Given the description of an element on the screen output the (x, y) to click on. 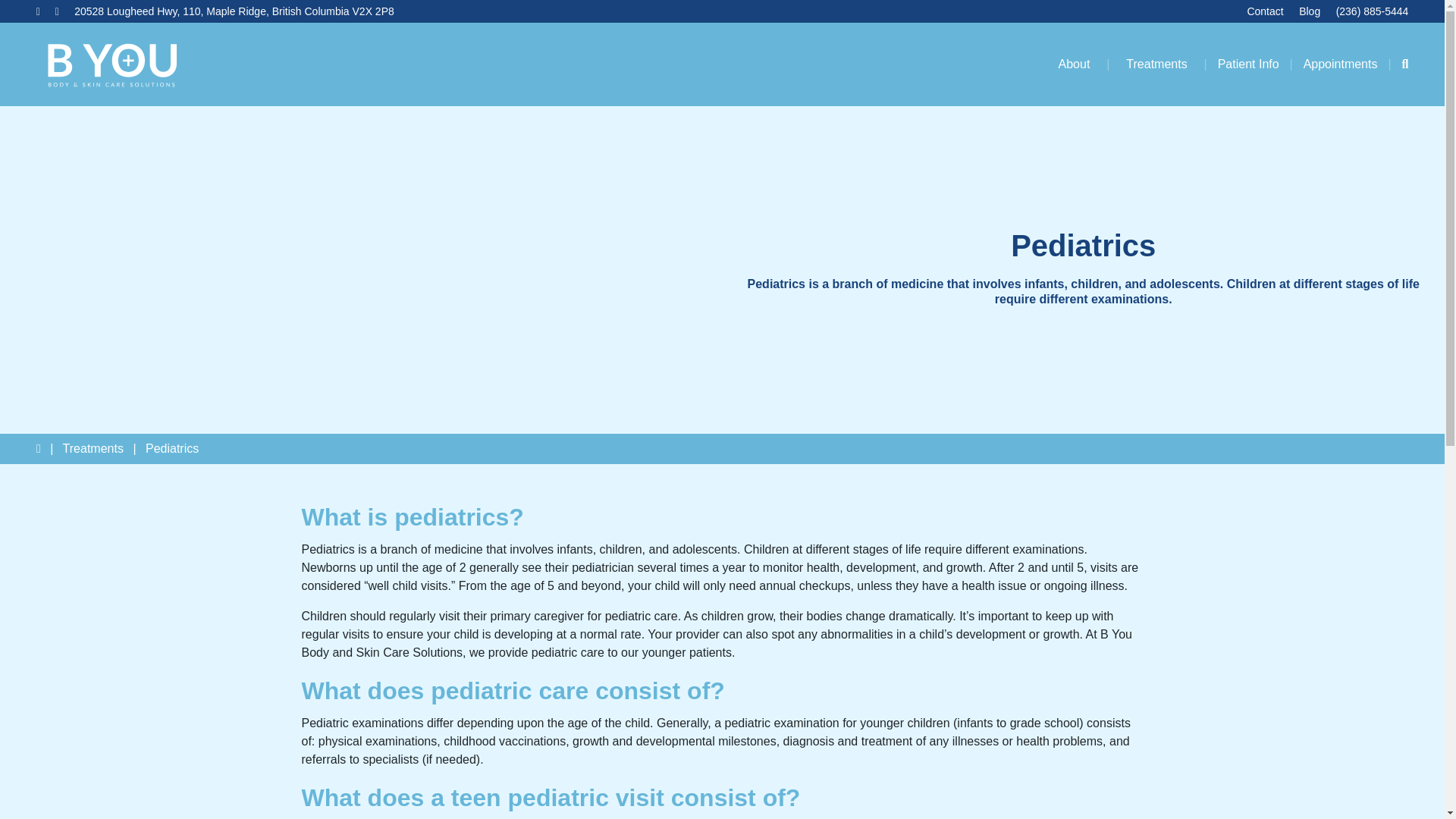
Treatments (92, 448)
Blog (1309, 10)
Appointments (1340, 64)
About (1074, 64)
Contact (1264, 10)
Patient Info (1248, 64)
Treatments (1155, 64)
